Given the description of an element on the screen output the (x, y) to click on. 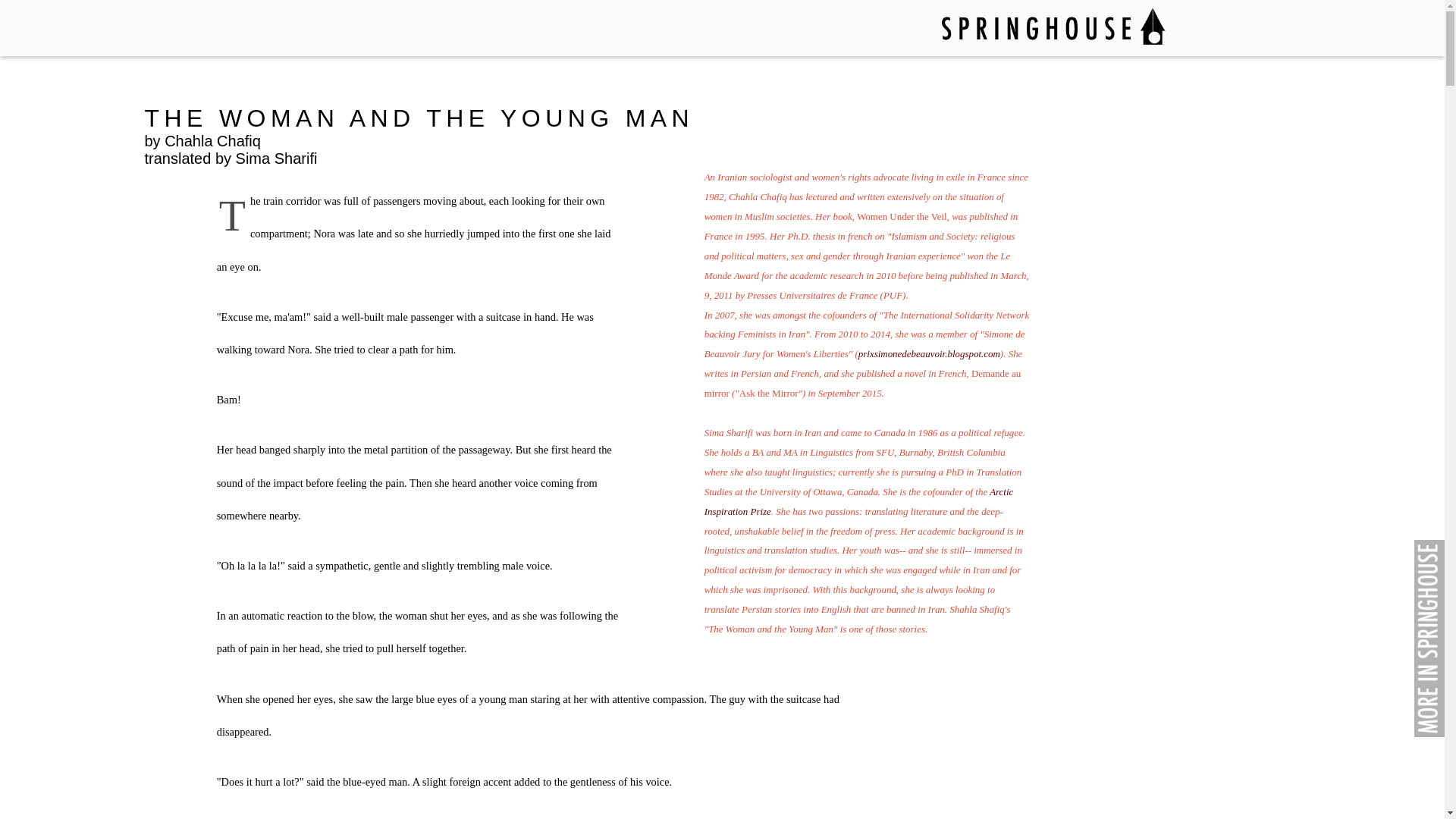
prixsimonedebeauvoir.blogspot.com (929, 353)
Arctic Inspiration Prize (858, 501)
